Given the description of an element on the screen output the (x, y) to click on. 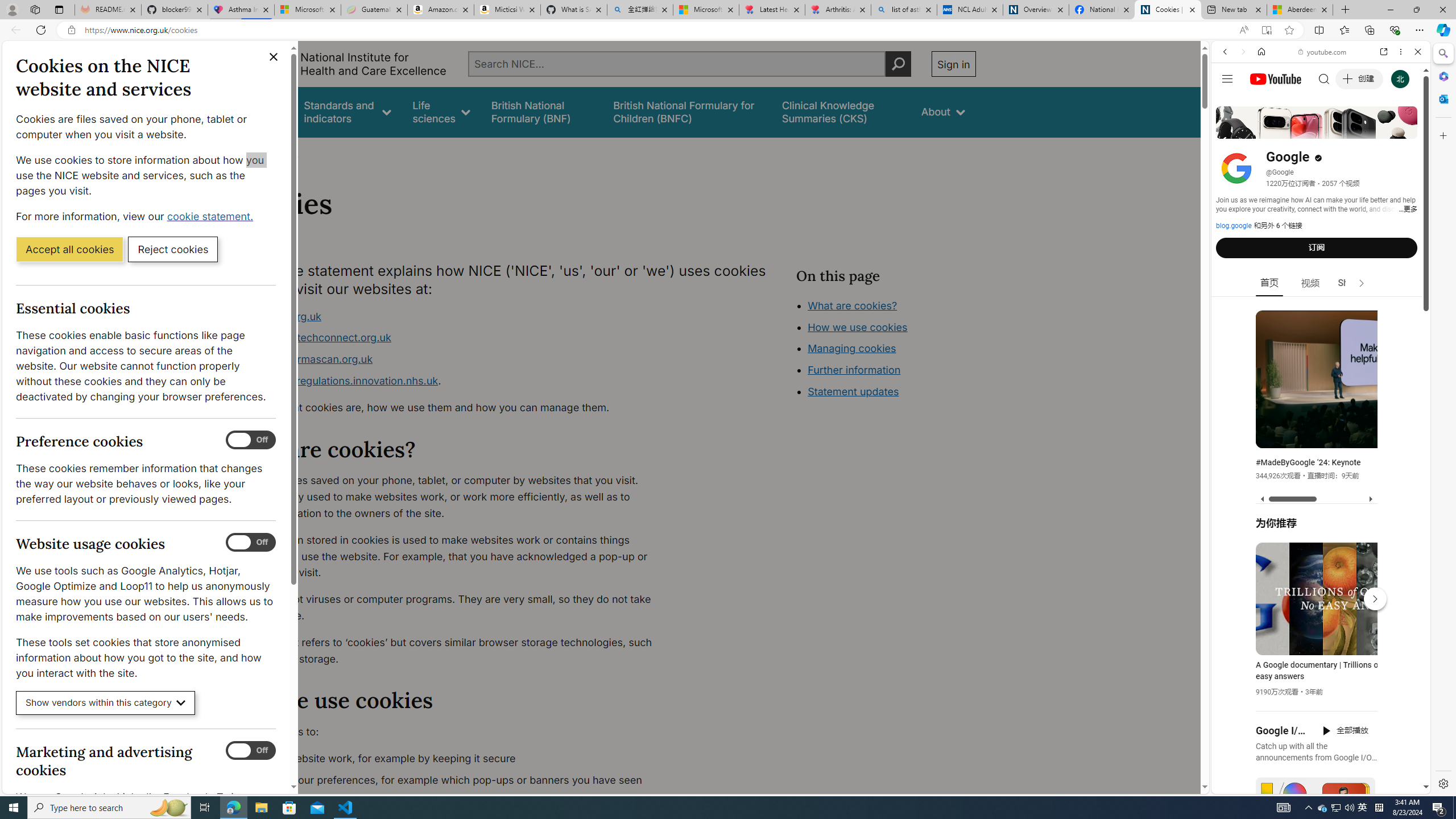
How we use cookies (857, 327)
Statement updates (853, 391)
Reject cookies (173, 248)
cookie statement. (Opens in a new window) (211, 215)
How we use cookies (896, 389)
NCL Adult Asthma Inhaler Choice Guideline (969, 9)
you (1315, 755)
US[ju] (1249, 785)
Preference cookies (250, 439)
Search videos from youtube.com (1299, 373)
